Given the description of an element on the screen output the (x, y) to click on. 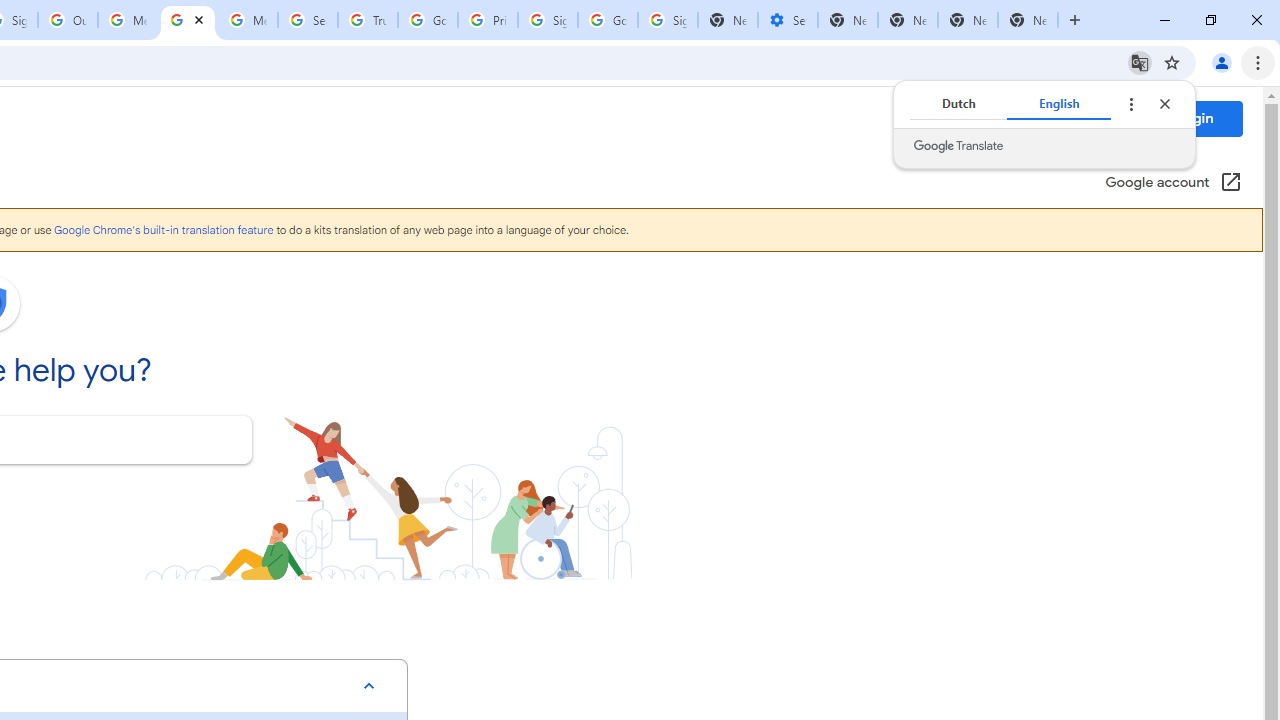
Translate options (1130, 103)
